Given the description of an element on the screen output the (x, y) to click on. 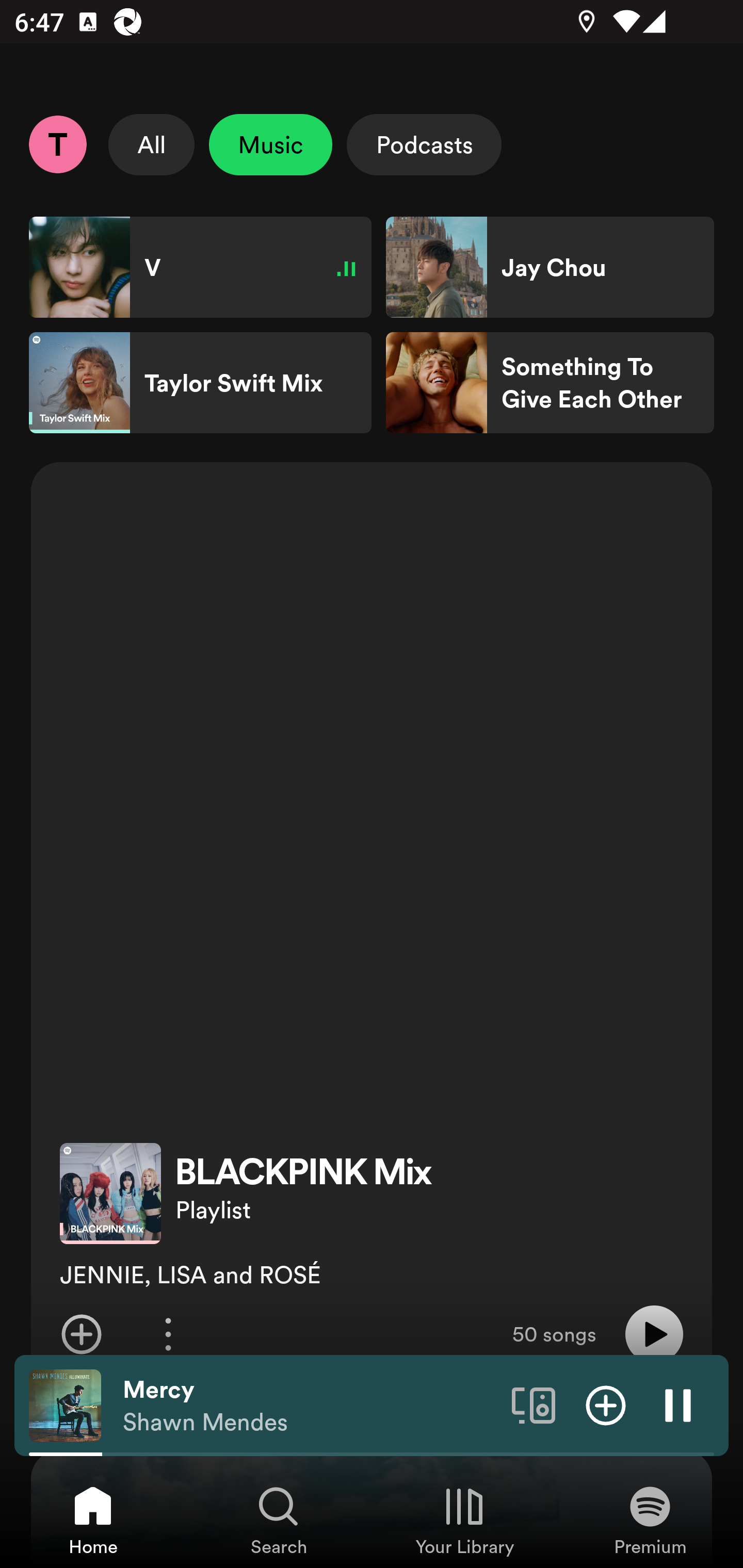
Profile (57, 144)
All Select All (151, 144)
Music Unselect Music (270, 144)
Podcasts Select Podcasts (423, 144)
V Shortcut V Playing (199, 267)
Jay Chou Shortcut Jay Chou (549, 267)
Taylor Swift Mix Shortcut Taylor Swift Mix (199, 382)
Add item (80, 1334)
Play (653, 1334)
Mercy Shawn Mendes (309, 1405)
The cover art of the currently playing track (64, 1404)
Connect to a device. Opens the devices menu (533, 1404)
Add item (605, 1404)
Pause (677, 1404)
Home, Tab 1 of 4 Home Home (92, 1519)
Search, Tab 2 of 4 Search Search (278, 1519)
Your Library, Tab 3 of 4 Your Library Your Library (464, 1519)
Premium, Tab 4 of 4 Premium Premium (650, 1519)
